Given the description of an element on the screen output the (x, y) to click on. 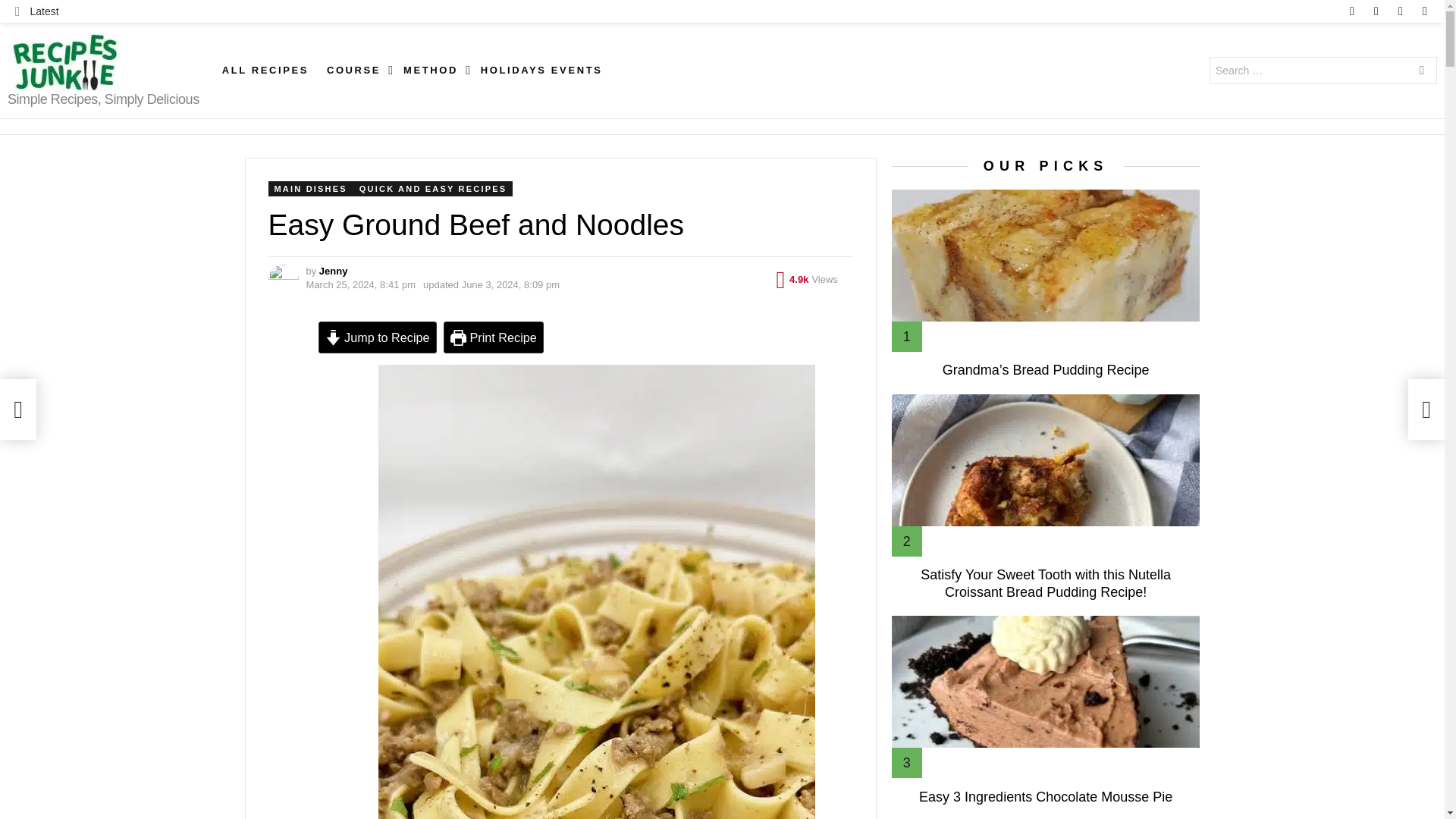
Jump to Recipe (377, 336)
Latest (36, 10)
instagram (1376, 11)
HOLIDAYS EVENTS (541, 69)
Search for: (1323, 70)
Print Recipe (493, 336)
SEARCH (1421, 71)
youtube (1424, 11)
MAIN DISHES (310, 187)
COURSE (355, 69)
